Given the description of an element on the screen output the (x, y) to click on. 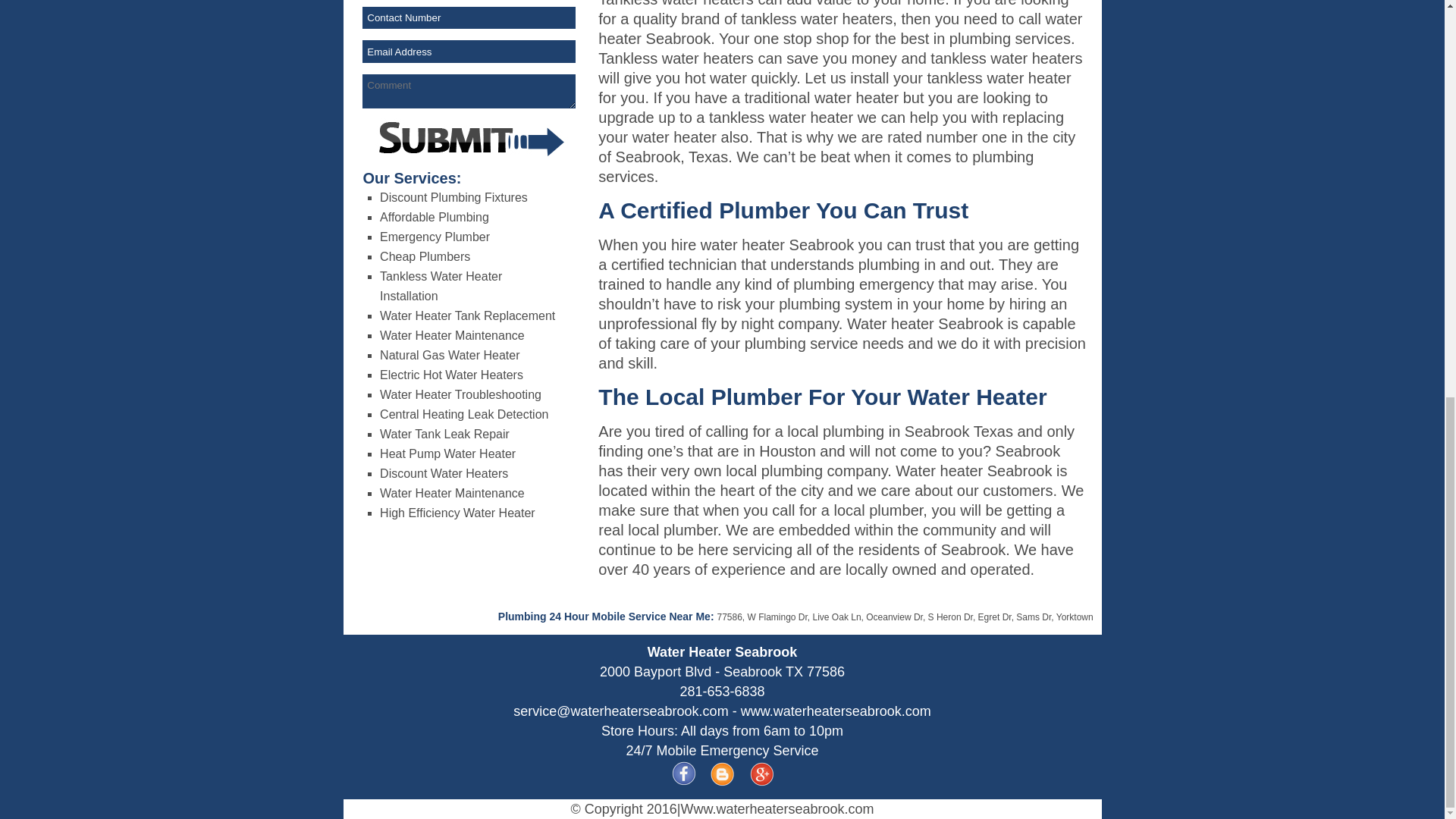
www.waterheaterseabrook.com (836, 711)
Email Address (468, 51)
Contact Number (468, 17)
